Given the description of an element on the screen output the (x, y) to click on. 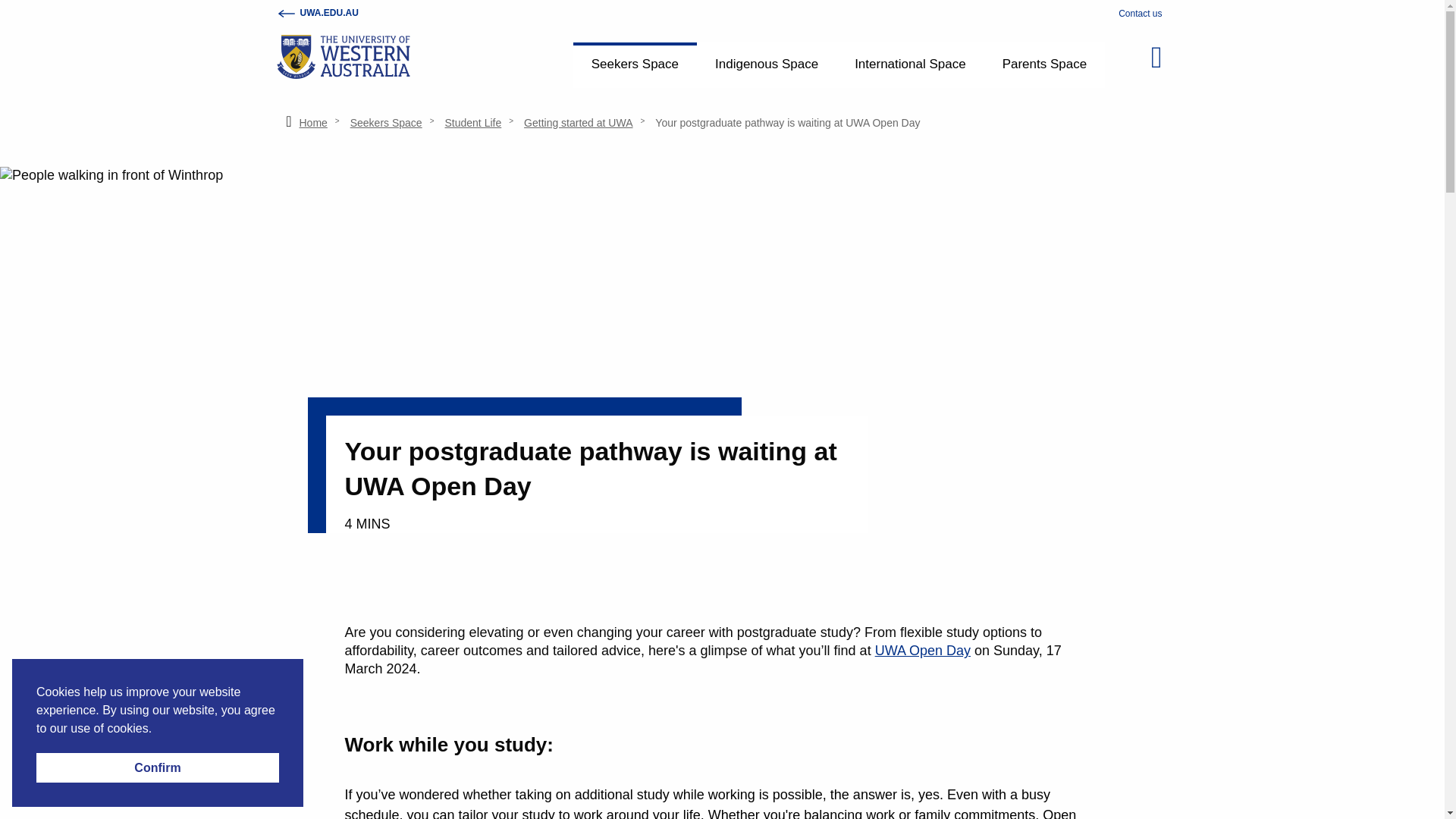
Your postgraduate pathway is waiting at UWA Open Day (787, 122)
Student Life (472, 122)
Indigenous Space (766, 64)
Indigenous Space (766, 64)
Seekers Space (635, 64)
getting-started-at-uwa (577, 122)
Contact us (1139, 13)
Home (312, 122)
Home (312, 122)
Seekers Space (386, 122)
